Given the description of an element on the screen output the (x, y) to click on. 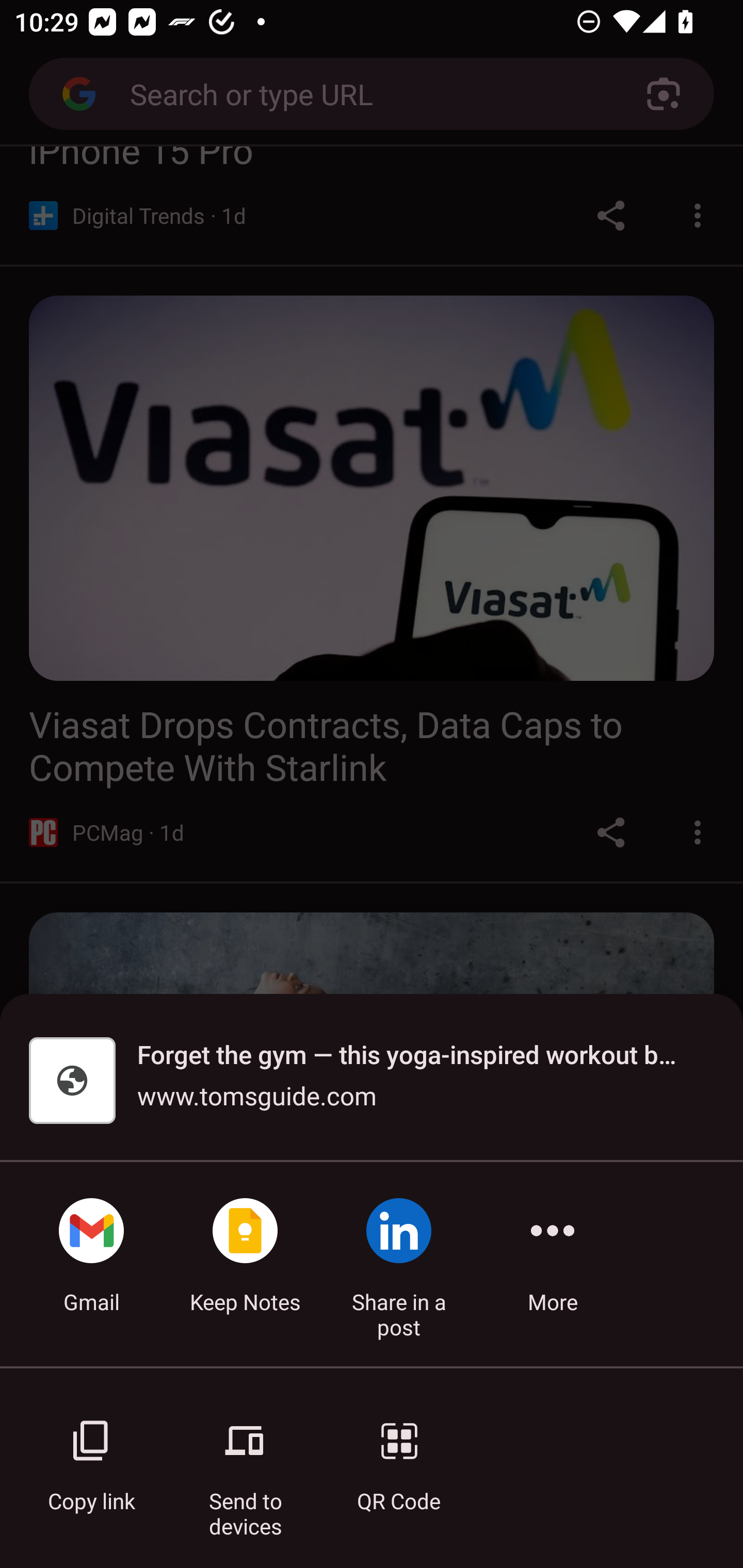
Search with your camera using Google Lens (663, 93)
Search or type URL (364, 92)
Gmail (90, 1263)
Keep Notes (244, 1263)
Share in a post (398, 1263)
More (552, 1263)
Copy link (90, 1454)
Send to devices (244, 1454)
QR Code (398, 1454)
